Given the description of an element on the screen output the (x, y) to click on. 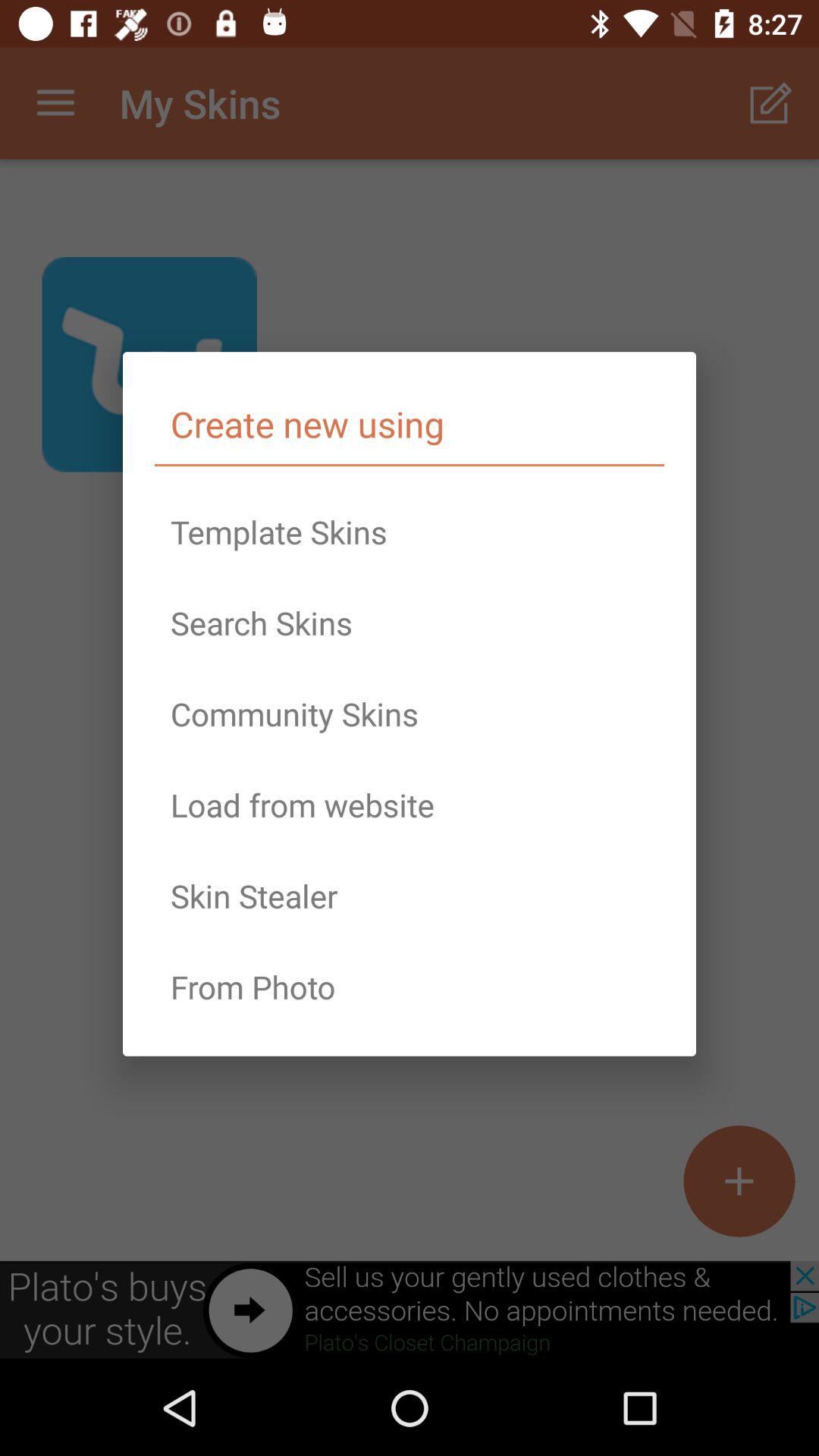
turn on the template skins (409, 531)
